Given the description of an element on the screen output the (x, y) to click on. 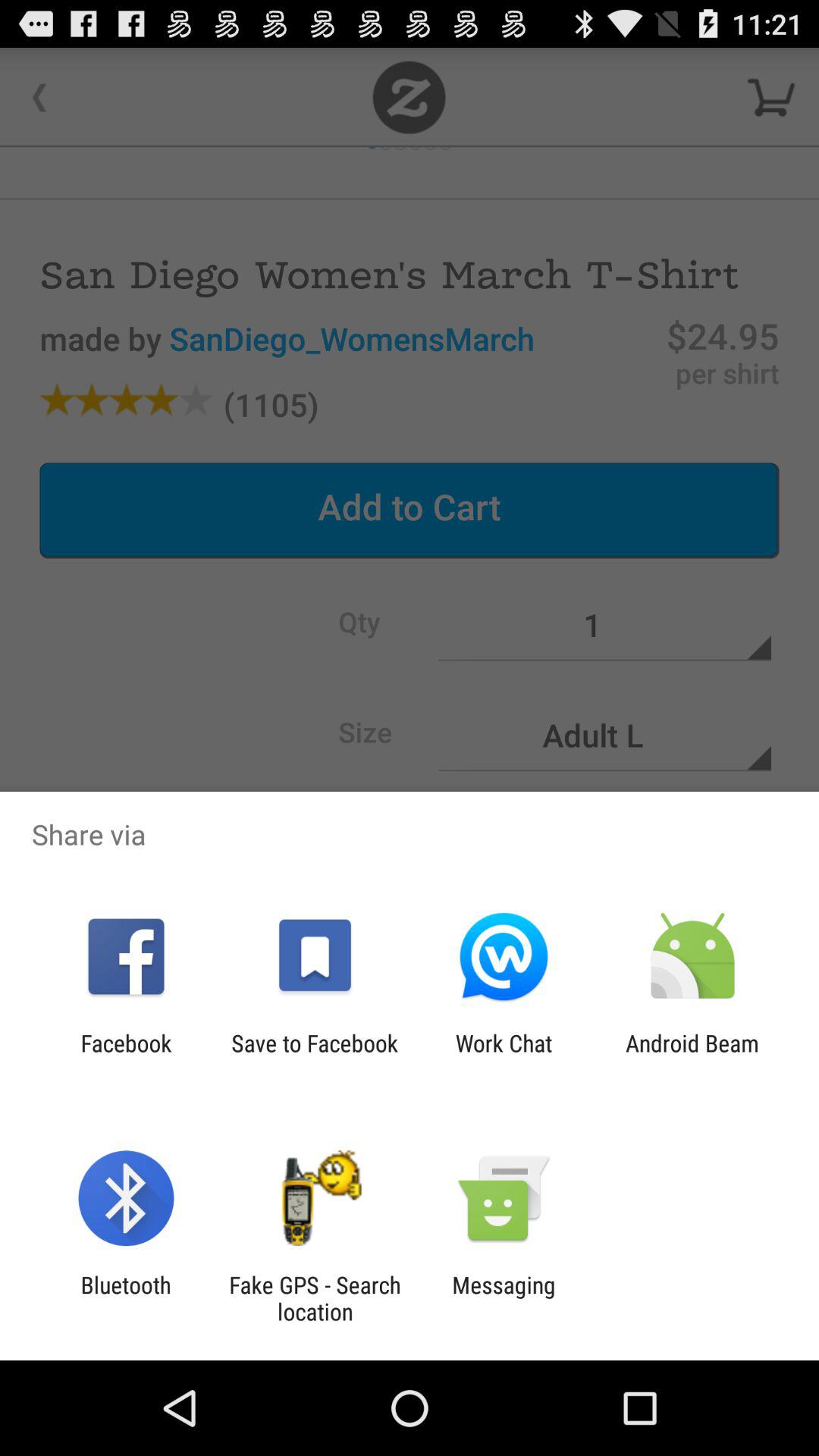
press work chat icon (503, 1056)
